Given the description of an element on the screen output the (x, y) to click on. 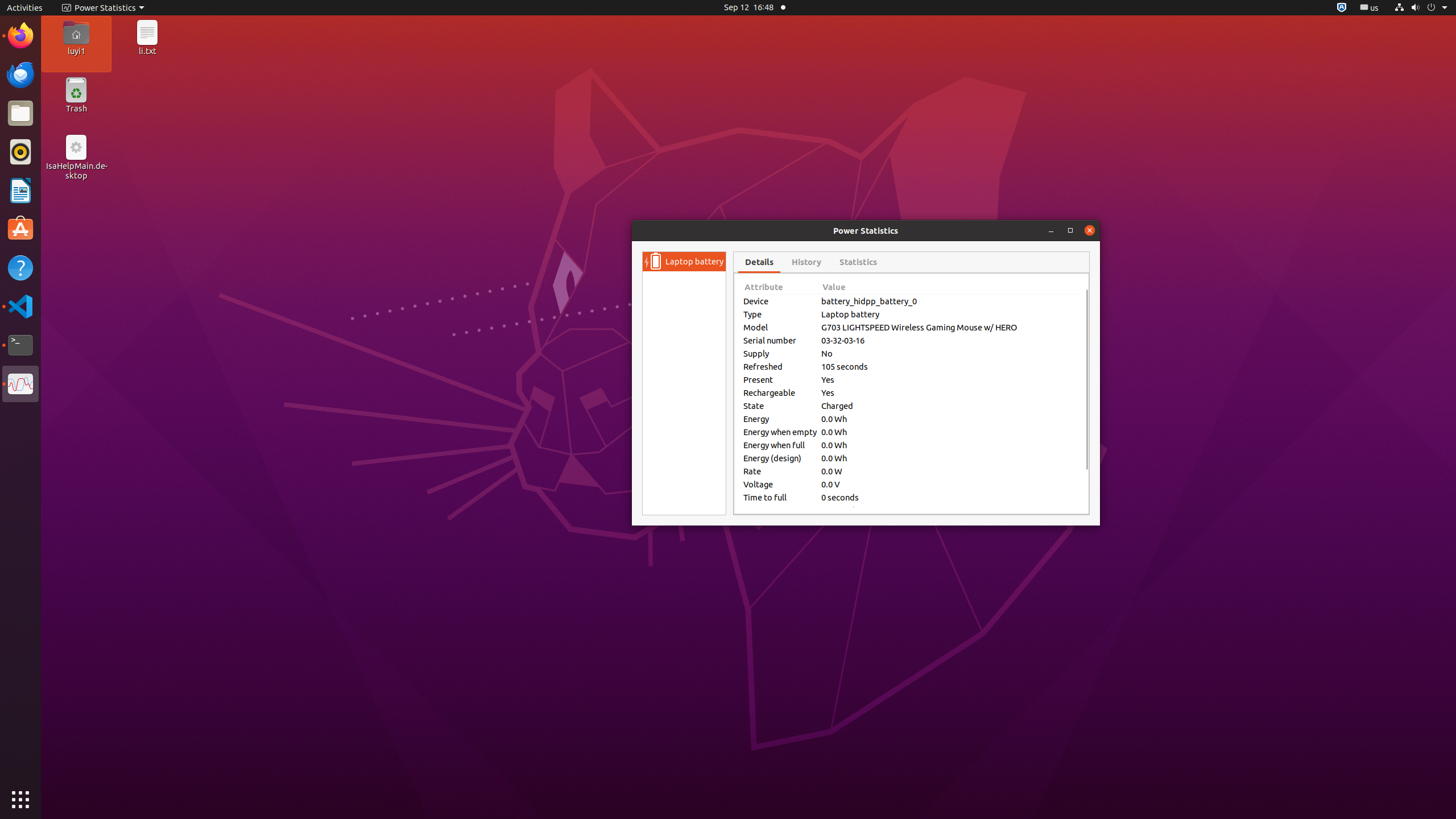
luyi1 Element type: label (75, 50)
IsaHelpMain.desktop Element type: label (75, 170)
Time to empty Element type: table-cell (779, 510)
Model Element type: table-cell (779, 327)
